Given the description of an element on the screen output the (x, y) to click on. 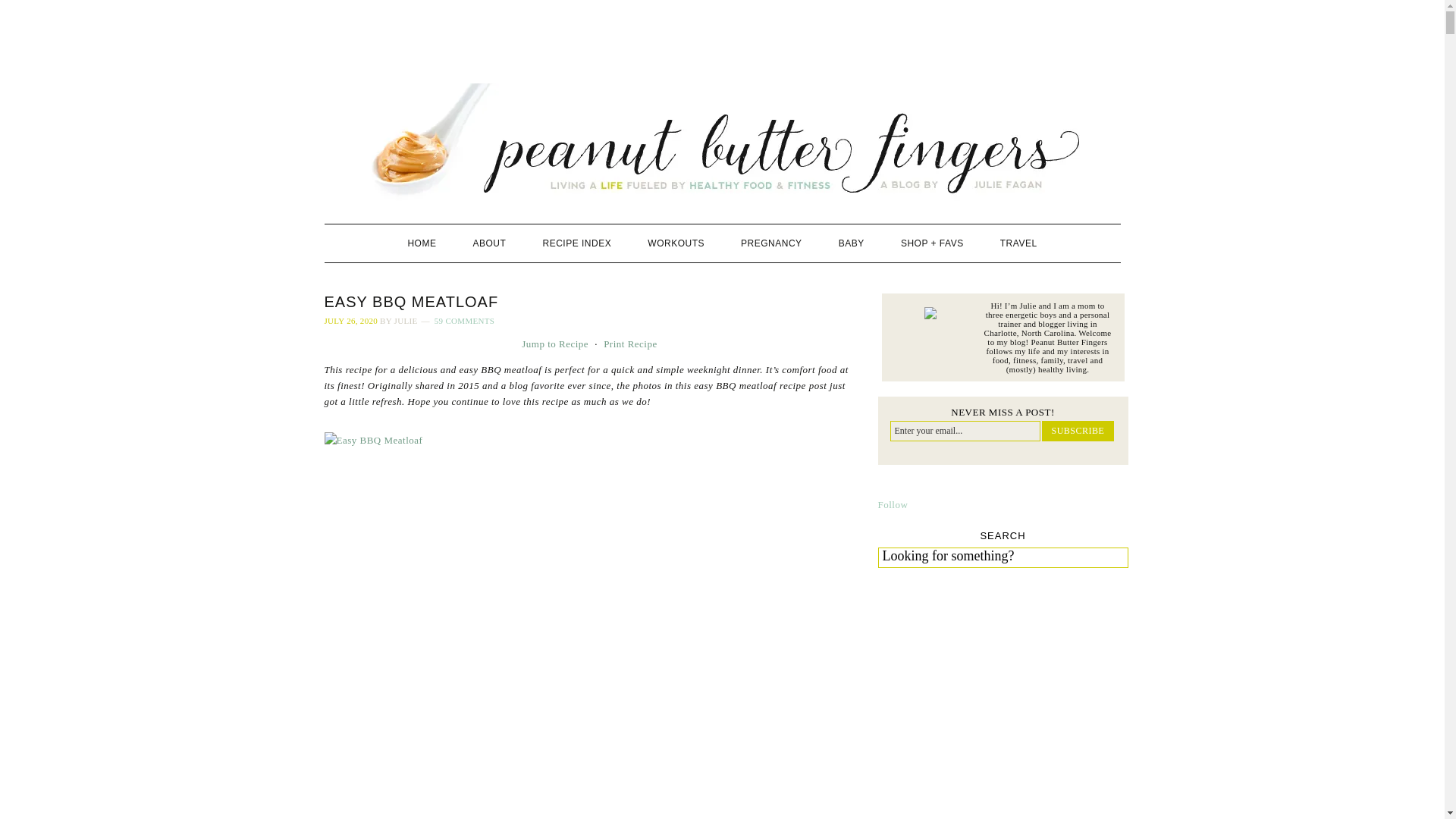
Jump to Recipe (554, 343)
ABOUT (489, 243)
Print Recipe (631, 343)
HOME (421, 243)
59 COMMENTS (464, 320)
BABY (851, 243)
Enter your email... (965, 430)
PEANUT BUTTER FINGERS (722, 141)
WORKOUTS (675, 243)
